Given the description of an element on the screen output the (x, y) to click on. 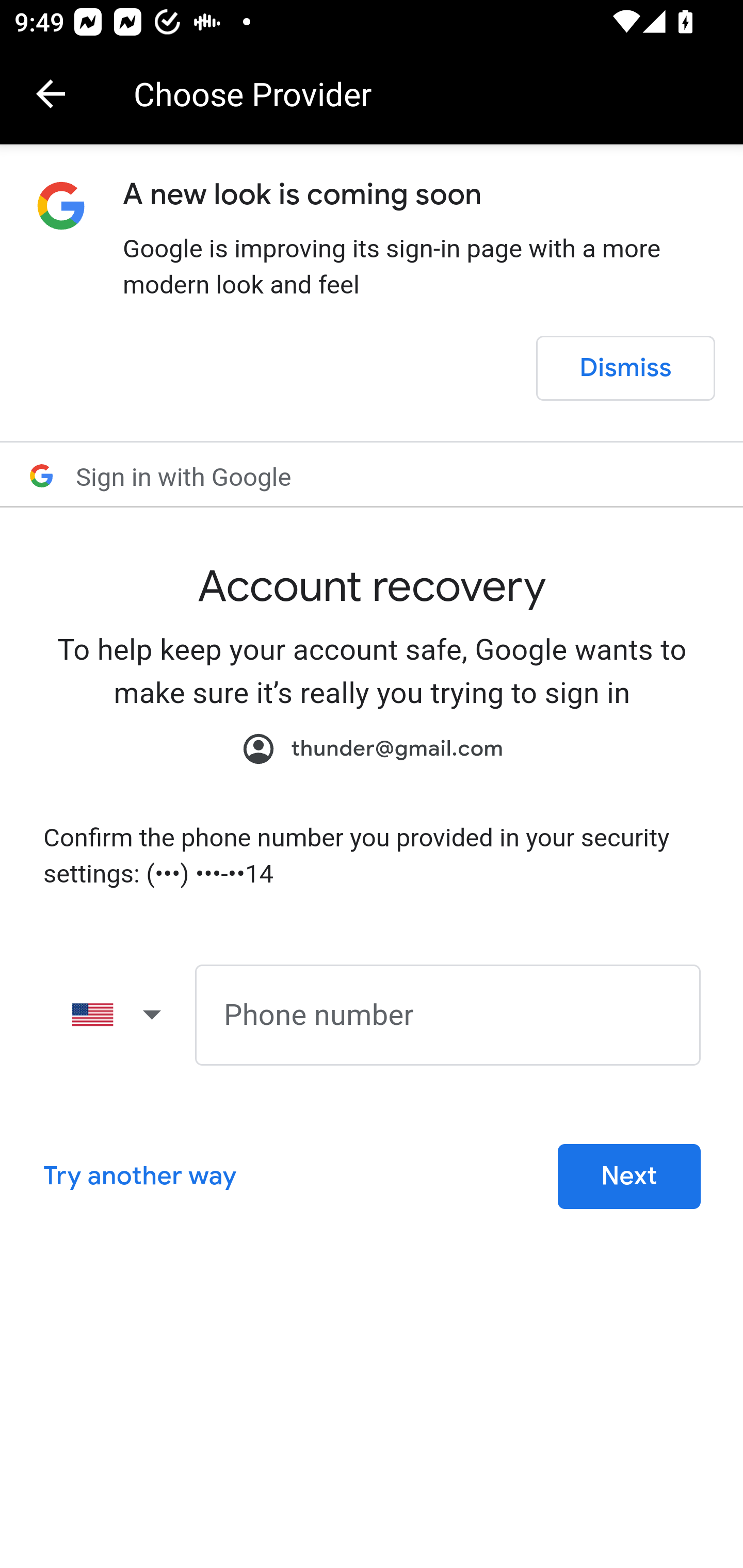
Navigate up (50, 93)
Dismiss (625, 368)
Try another way (139, 1175)
Next (629, 1175)
